Given the description of an element on the screen output the (x, y) to click on. 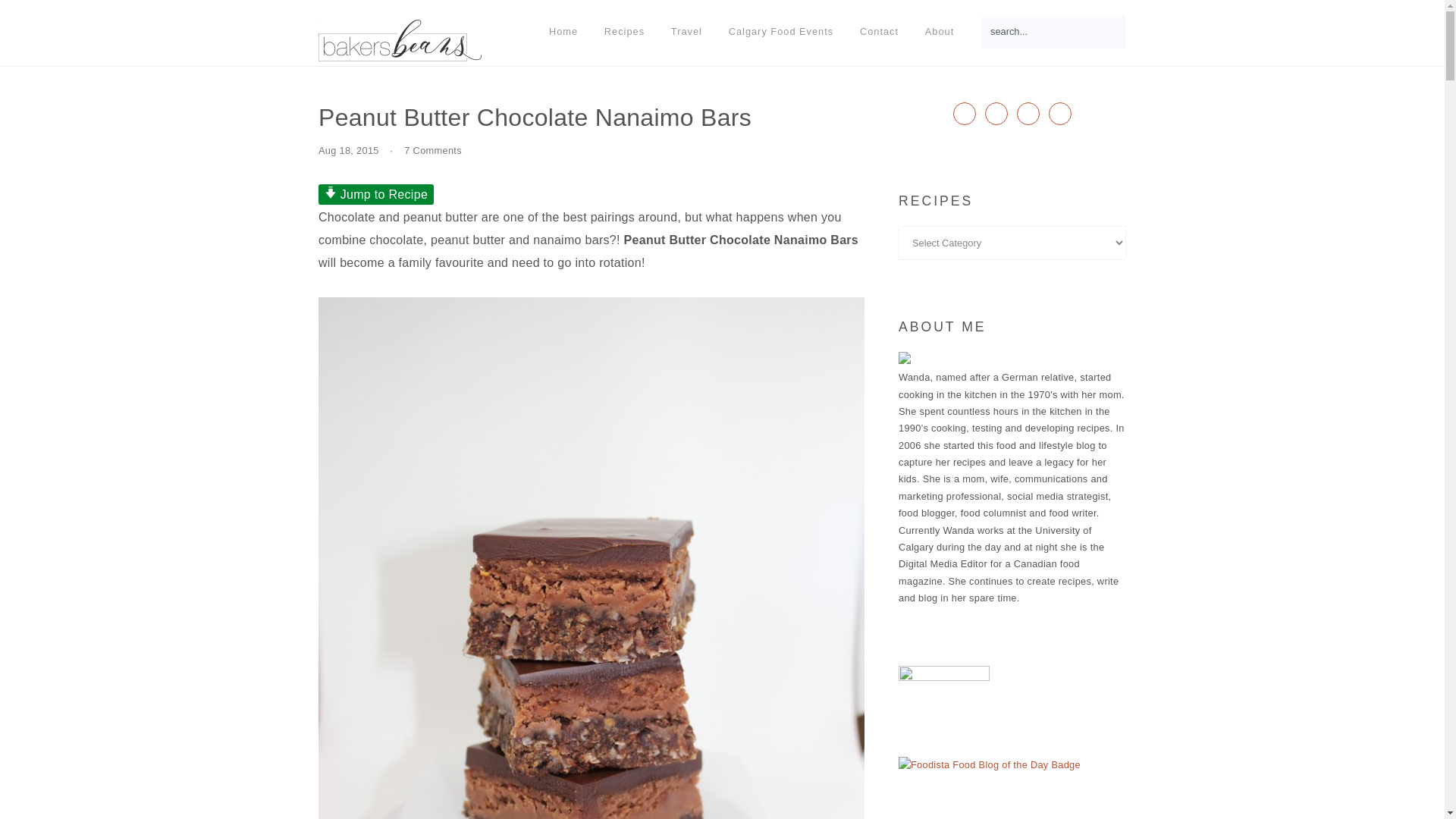
Home (563, 32)
Foodista Food Blog of the Day Badge (989, 764)
Recipes (624, 32)
